Given the description of an element on the screen output the (x, y) to click on. 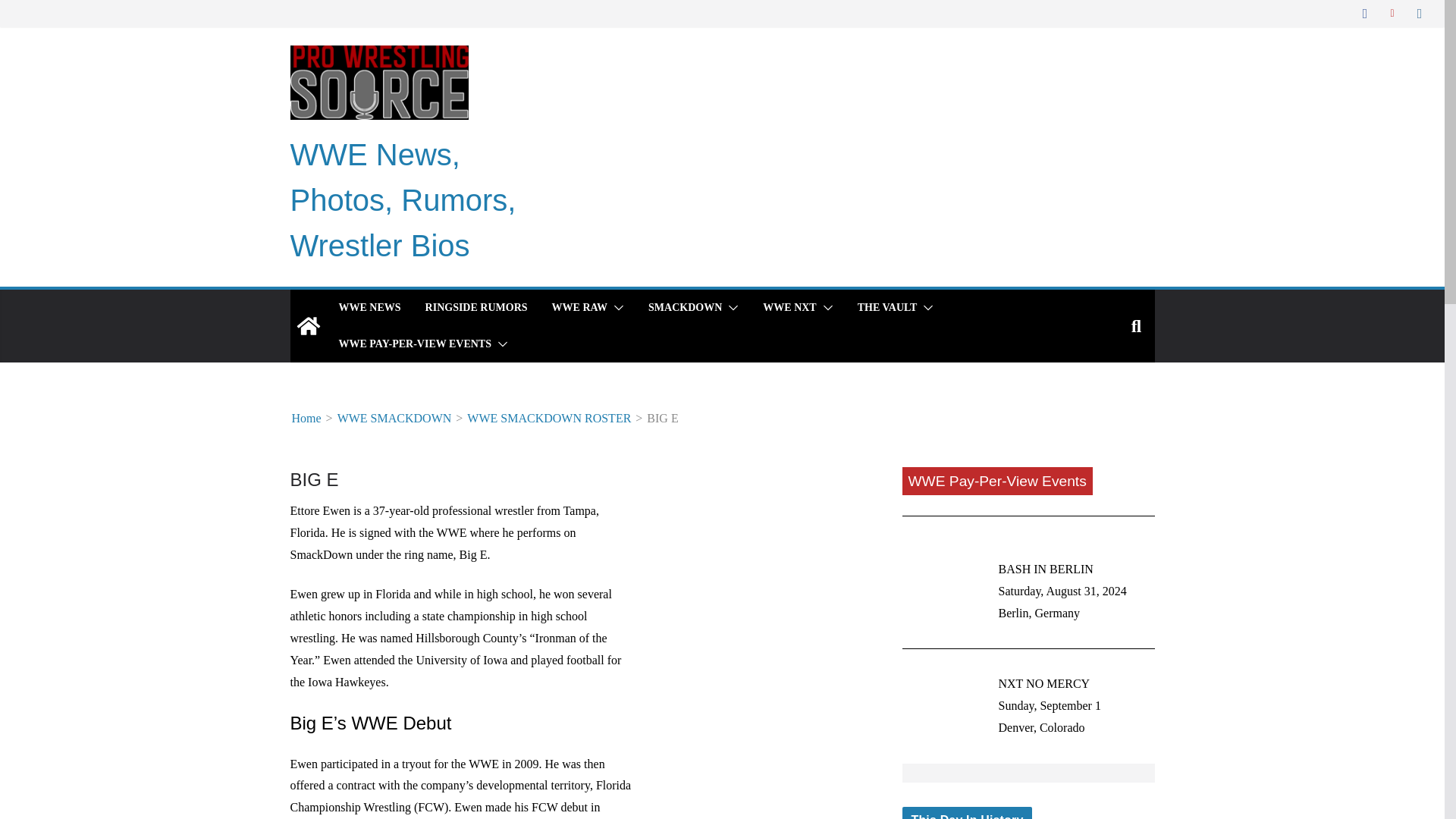
RINGSIDE RUMORS (476, 307)
WWE PAY-PER-VIEW EVENTS (414, 343)
SMACKDOWN (684, 307)
WWE News, Photos, Rumors, Wrestler Bios (307, 325)
WWE SMACKDOWN (394, 418)
Home (305, 418)
WWE News, Photos, Rumors, Wrestler Bios (402, 200)
THE VAULT (887, 307)
WWE News, Photos, Rumors, Wrestler Bios (402, 200)
WWE NXT (788, 307)
